Given the description of an element on the screen output the (x, y) to click on. 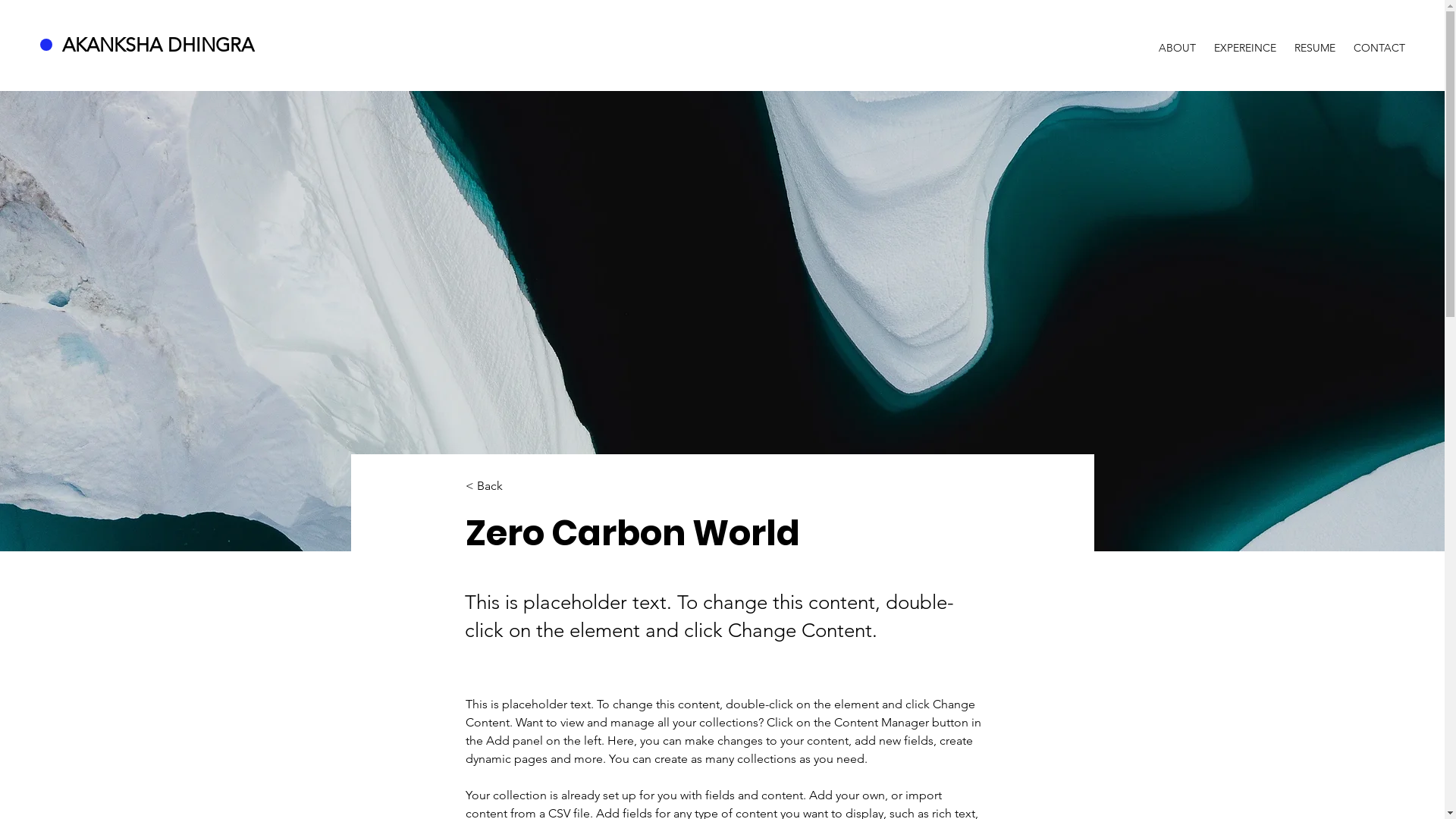
AKANKSHA DHINGRA  Element type: text (160, 44)
RESUME Element type: text (1314, 41)
ABOUT Element type: text (1176, 41)
EXPEREINCE Element type: text (1244, 41)
< Back Element type: text (515, 486)
CONTACT Element type: text (1379, 41)
